Given the description of an element on the screen output the (x, y) to click on. 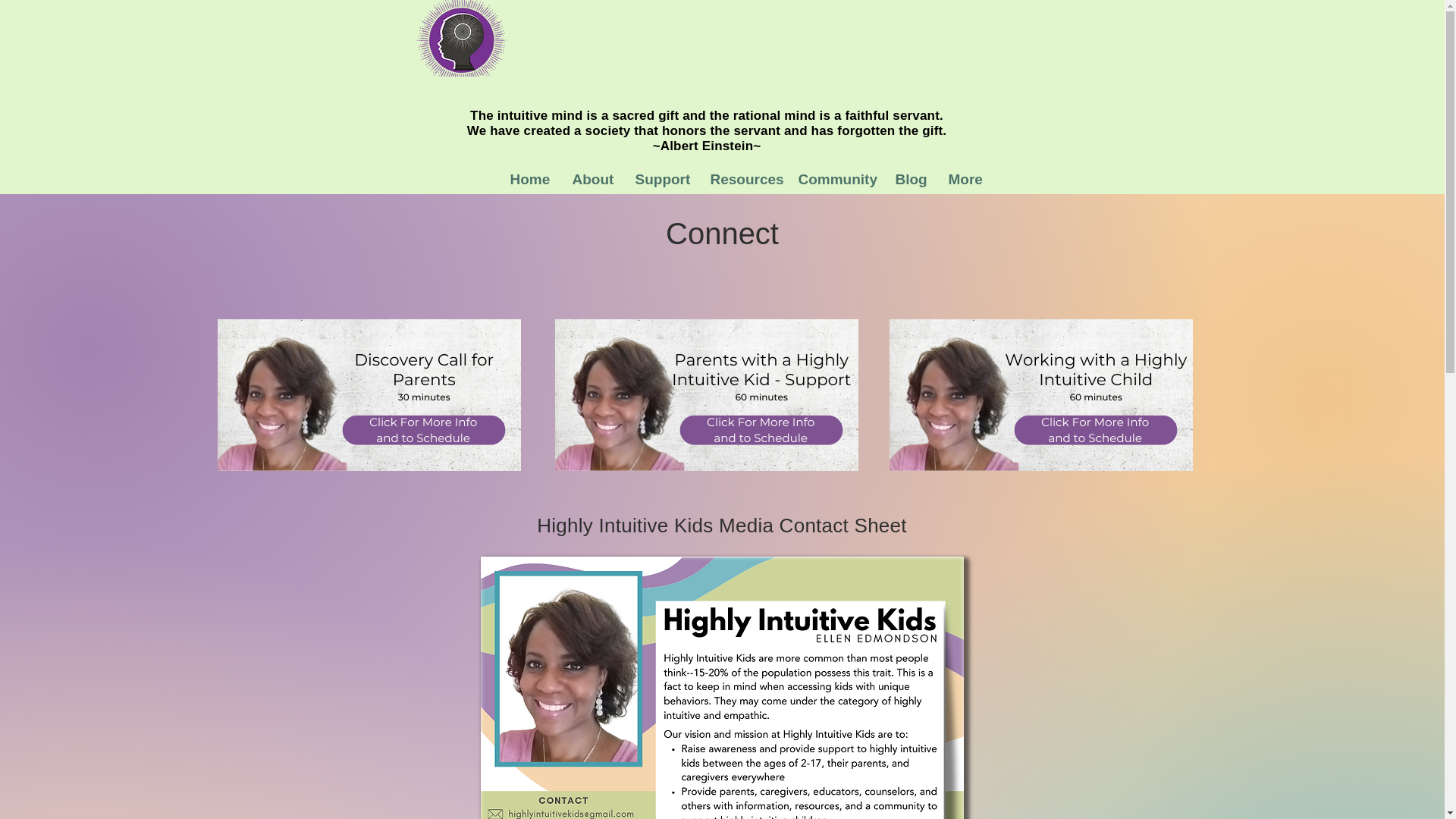
Blog (910, 179)
Home (529, 179)
Resources (742, 179)
Community (835, 179)
Support (660, 179)
hik media sheet.png (721, 687)
About (592, 179)
